Given the description of an element on the screen output the (x, y) to click on. 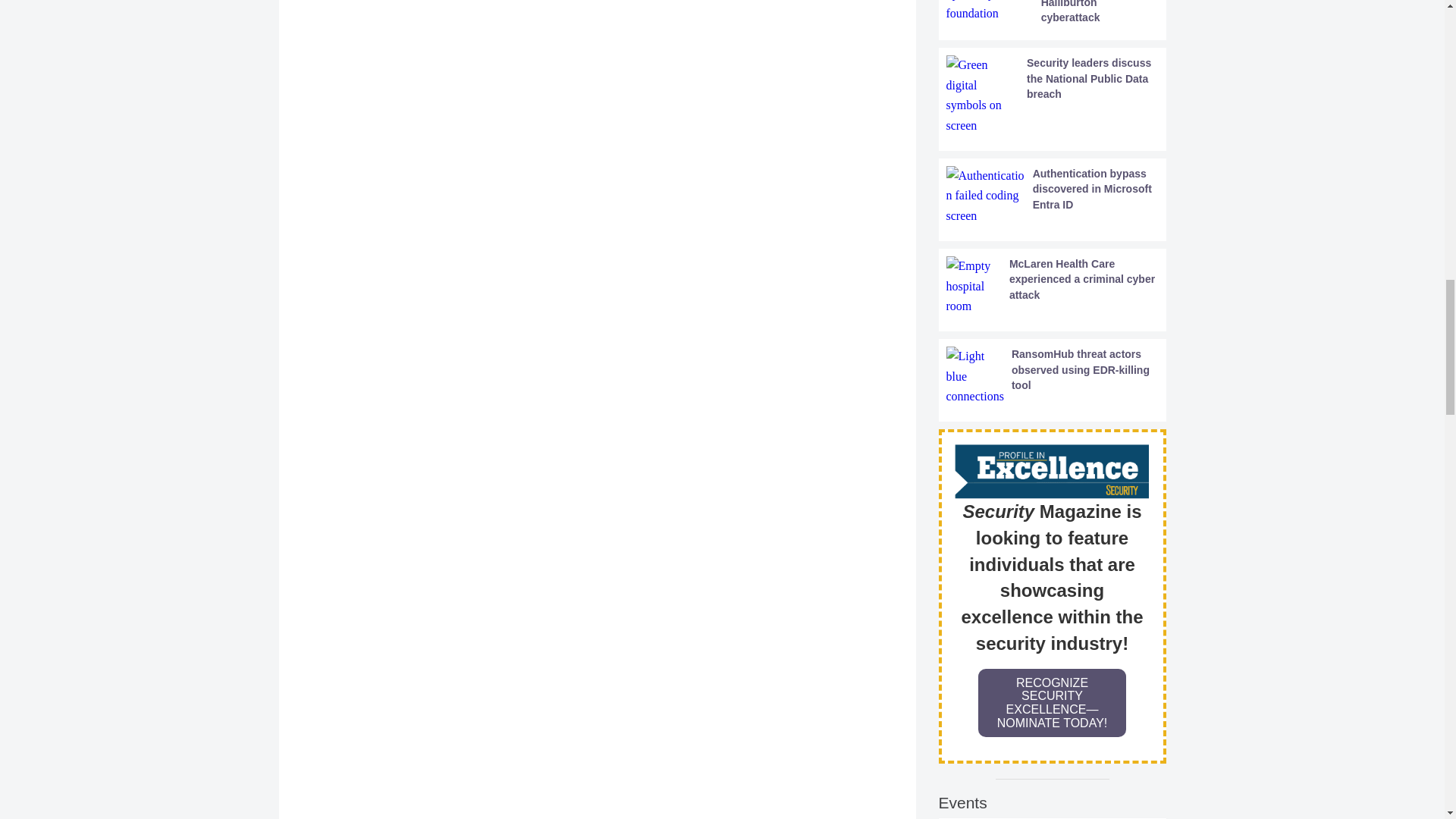
McLaren Health Care experienced a criminal cyber attack (1052, 286)
RansomHub threat actors observed using EDR-killing tool (1052, 376)
Security leaders discuss the National Public Data breach (1052, 95)
Authentication bypass discovered in Microsoft Entra ID  (1052, 196)
Security leaders respond to the Halliburton cyberattack (1052, 12)
